Given the description of an element on the screen output the (x, y) to click on. 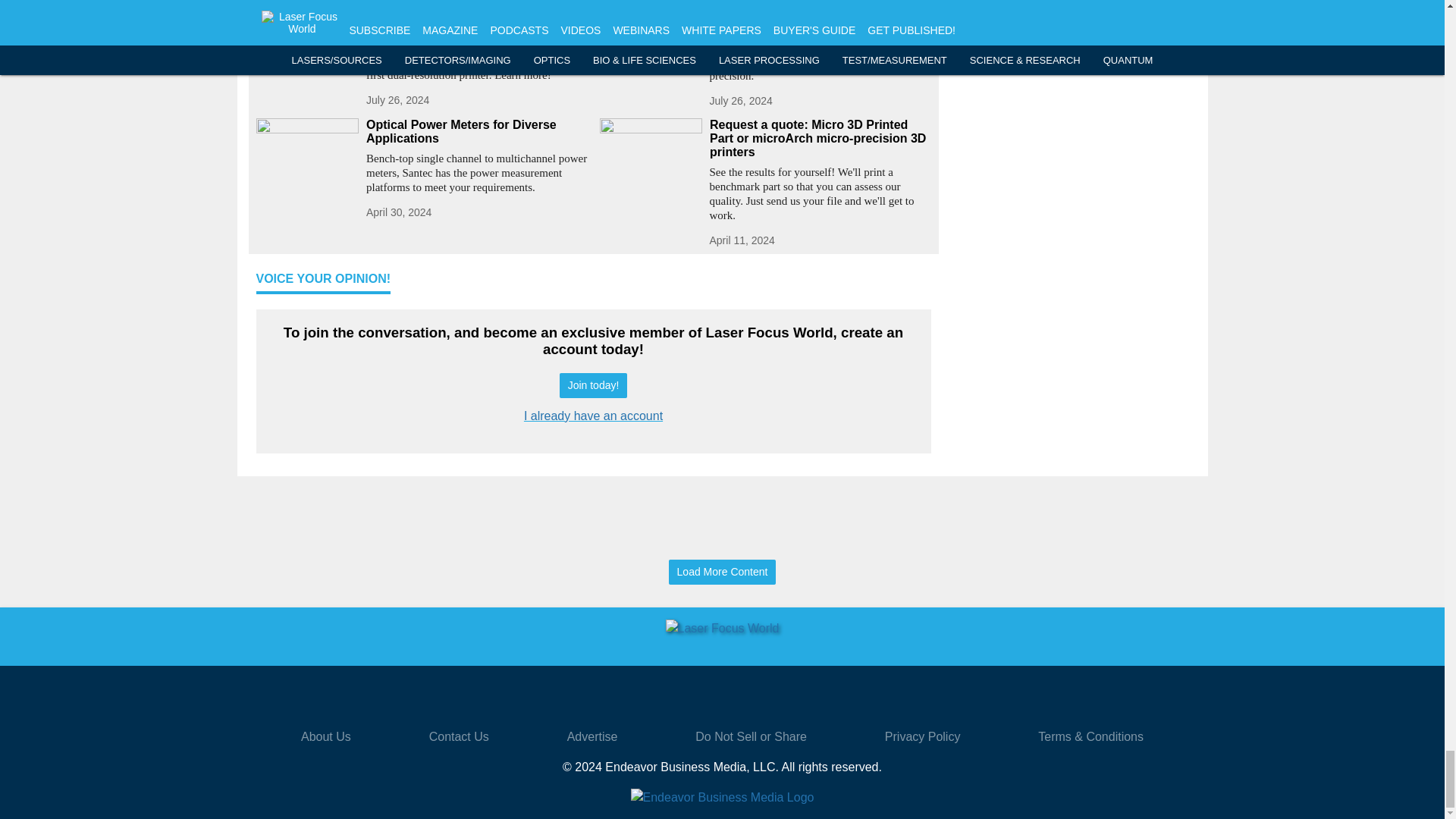
Join today! (593, 385)
I already have an account (593, 415)
Optical Power Meters for Diverse Applications (476, 131)
